Given the description of an element on the screen output the (x, y) to click on. 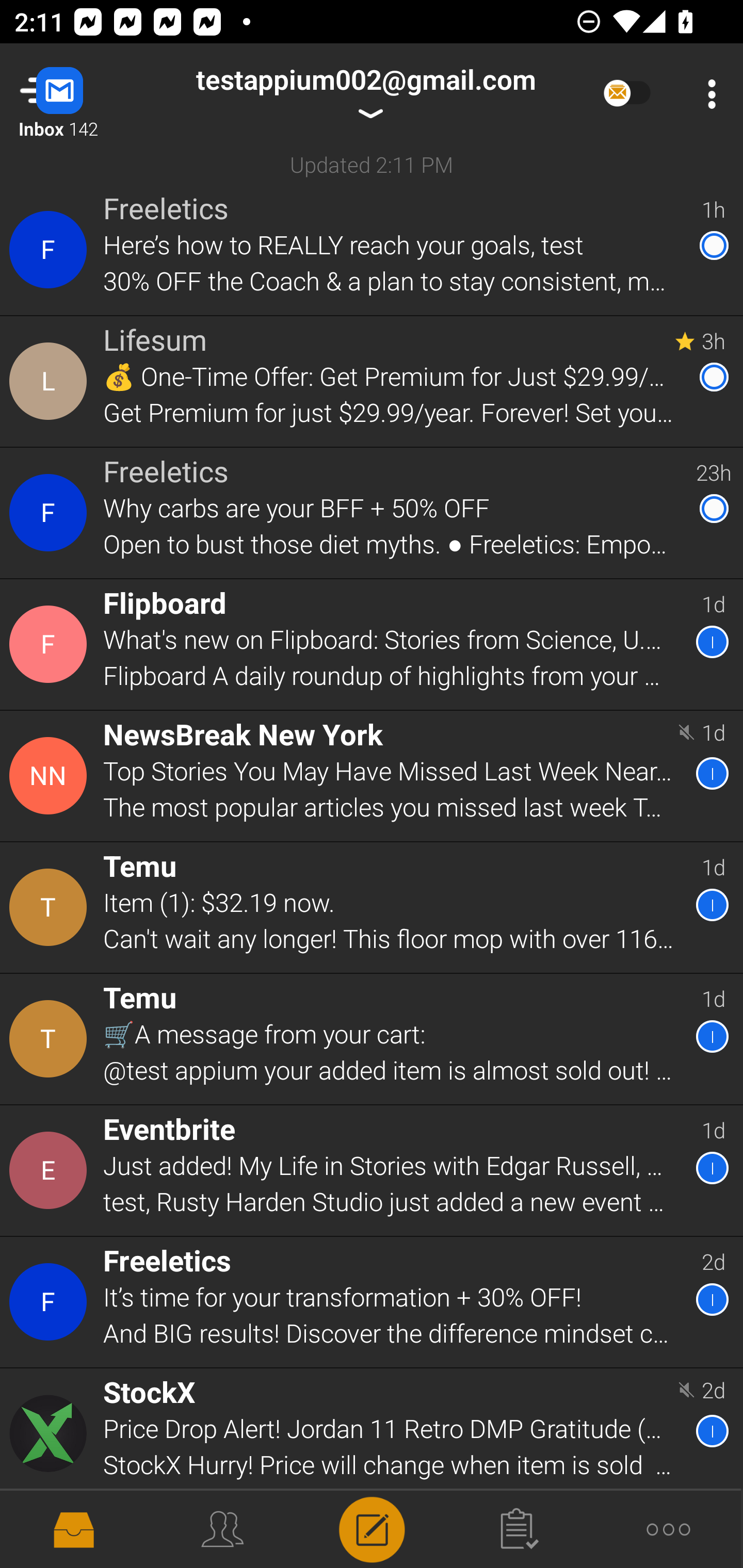
Navigate up (81, 93)
testappium002@gmail.com (365, 93)
More Options (706, 93)
Updated 2:11 PM (371, 164)
Contact Details (50, 250)
Contact Details (50, 381)
Contact Details (50, 513)
Contact Details (50, 644)
Contact Details (50, 776)
Contact Details (50, 907)
Contact Details (50, 1038)
Contact Details (50, 1170)
Contact Details (50, 1302)
Contact Details (50, 1433)
Compose (371, 1528)
